Given the description of an element on the screen output the (x, y) to click on. 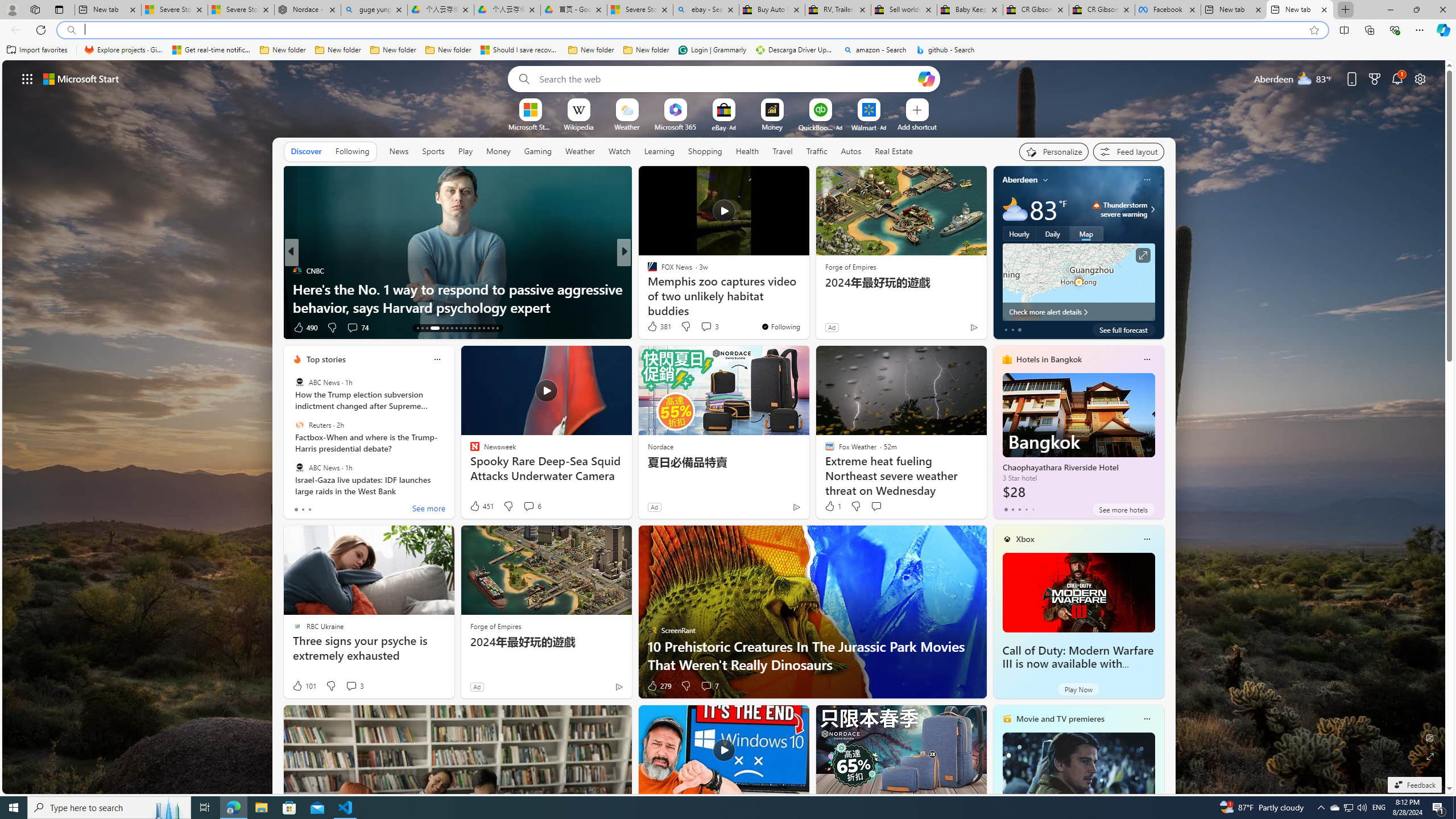
AutomationID: tab-21 (460, 328)
Buy Auto Parts & Accessories | eBay (771, 9)
tab-2 (1019, 509)
AutomationID: tab-14 (422, 328)
tab-1 (1012, 509)
Action News Jax (647, 288)
Traffic (816, 151)
Forge of Empires (495, 625)
Shopping (705, 151)
View comments 6 Comment (528, 505)
Traffic (816, 151)
Map (1085, 233)
